Given the description of an element on the screen output the (x, y) to click on. 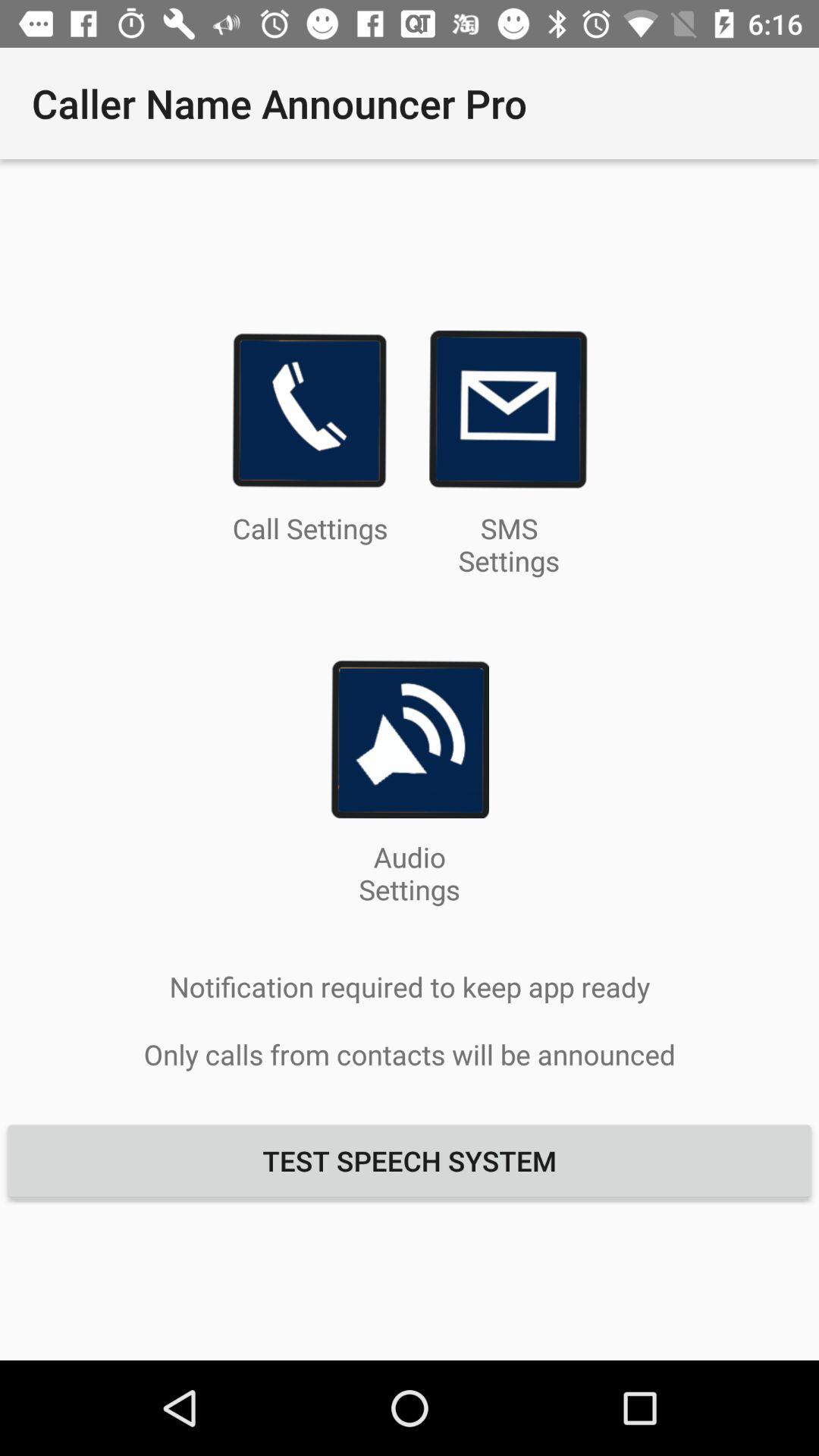
turn on icon below caller name announcer (309, 409)
